Given the description of an element on the screen output the (x, y) to click on. 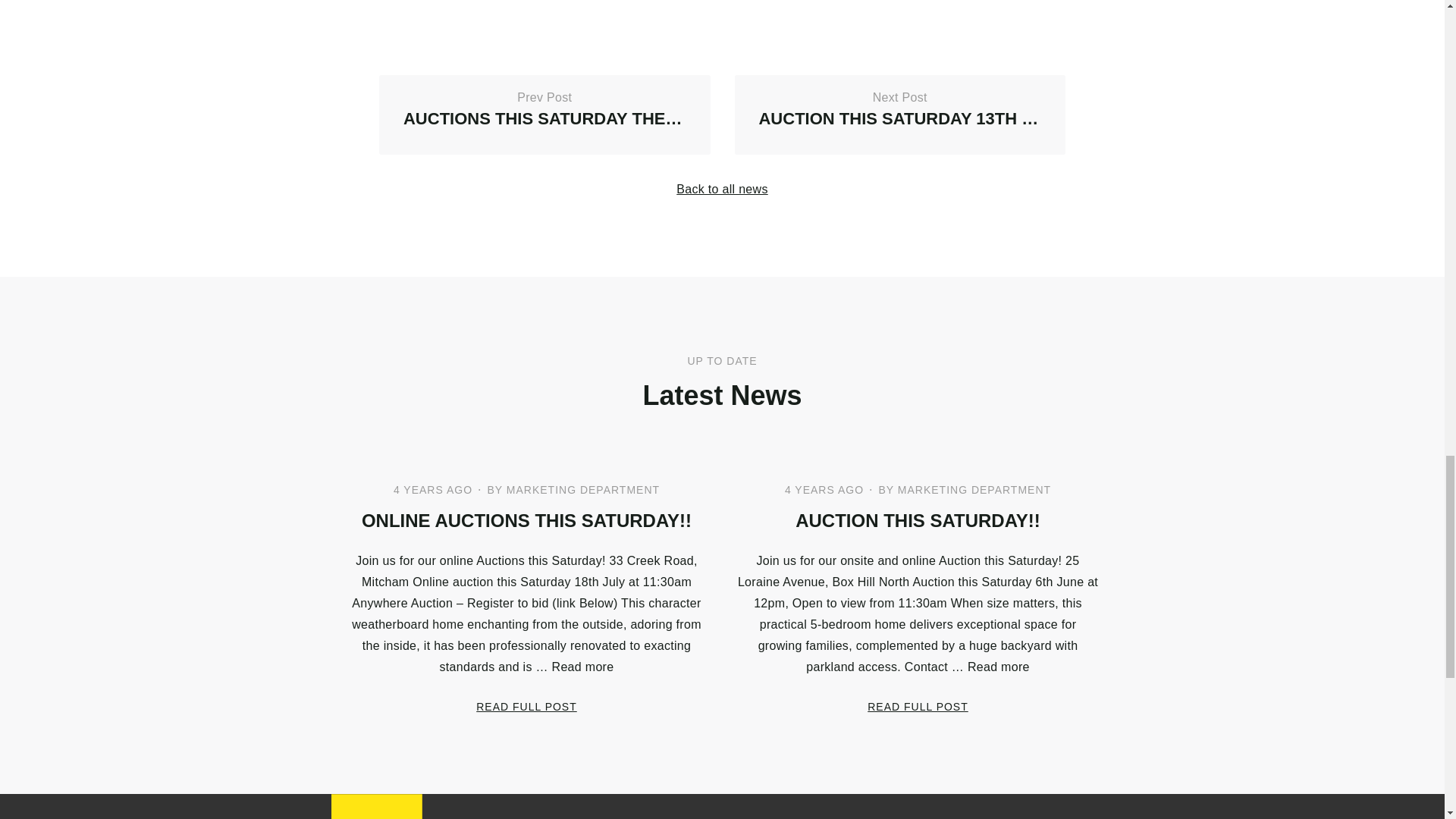
READ FULL POST (899, 114)
Ray White (917, 706)
READ FULL POST (376, 806)
Back to all news (526, 706)
AUCTION THIS SATURDAY!! (722, 188)
ONLINE AUCTIONS THIS SATURDAY!! (544, 114)
